Given the description of an element on the screen output the (x, y) to click on. 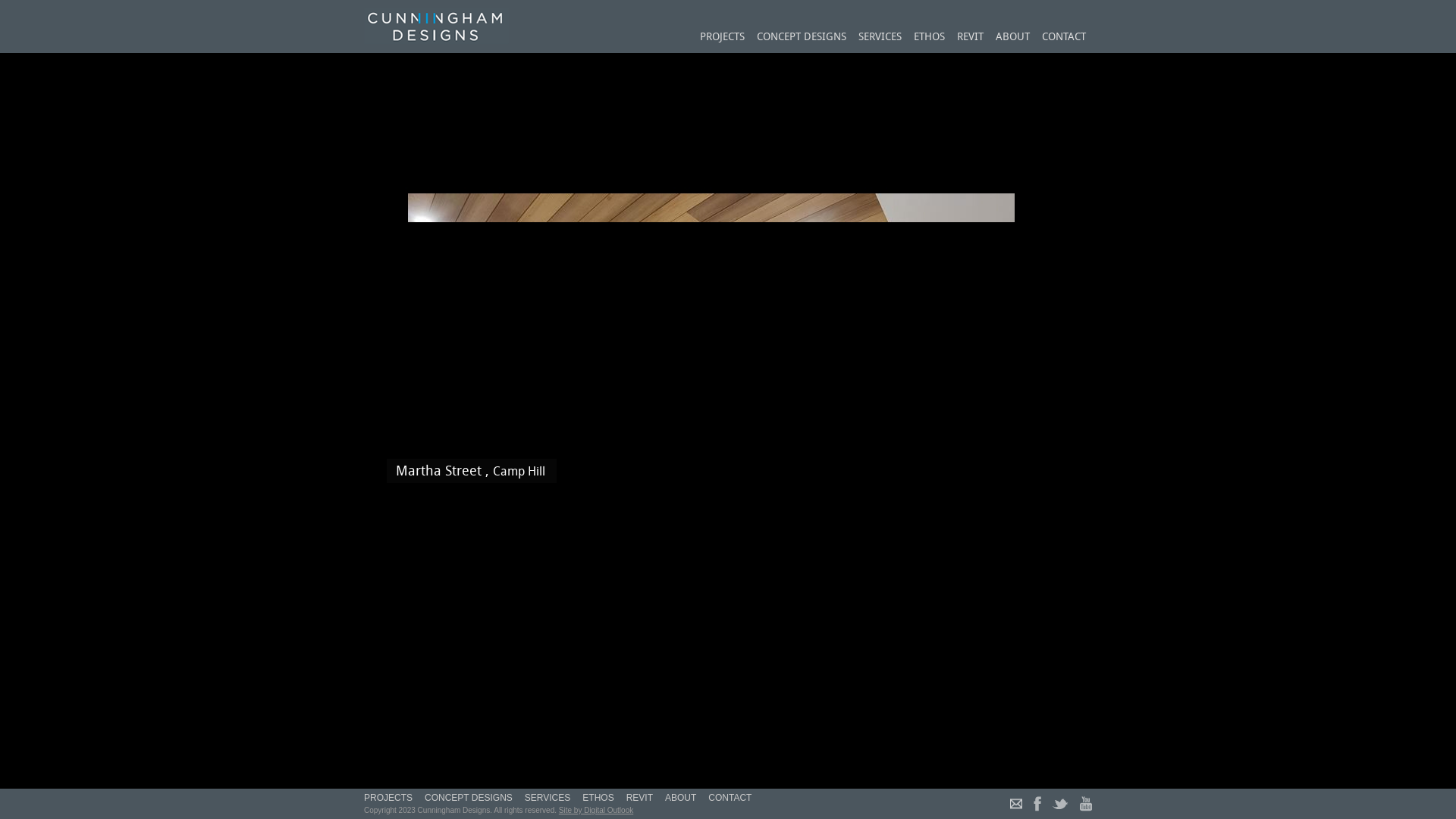
SERVICES Element type: text (879, 37)
ABOUT Element type: text (1012, 37)
Home Element type: hover (436, 25)
Facebook Element type: text (1037, 803)
ETHOS Element type: text (597, 797)
ETHOS Element type: text (928, 37)
CONTACT Element type: text (729, 797)
CONTACT Element type: text (1063, 37)
Twitter Element type: text (1060, 803)
SERVICES Element type: text (547, 797)
Martha Street Element type: text (438, 471)
REVIT Element type: text (969, 37)
CONCEPT DESIGNS Element type: text (468, 797)
ABOUT Element type: text (680, 797)
REVIT Element type: text (639, 797)
PROJECTS Element type: text (391, 797)
YouTube Element type: text (1085, 803)
Email Element type: text (1016, 803)
Site by Digital Outlook Element type: text (595, 810)
CONCEPT DESIGNS Element type: text (801, 37)
PROJECTS Element type: text (721, 37)
